Given the description of an element on the screen output the (x, y) to click on. 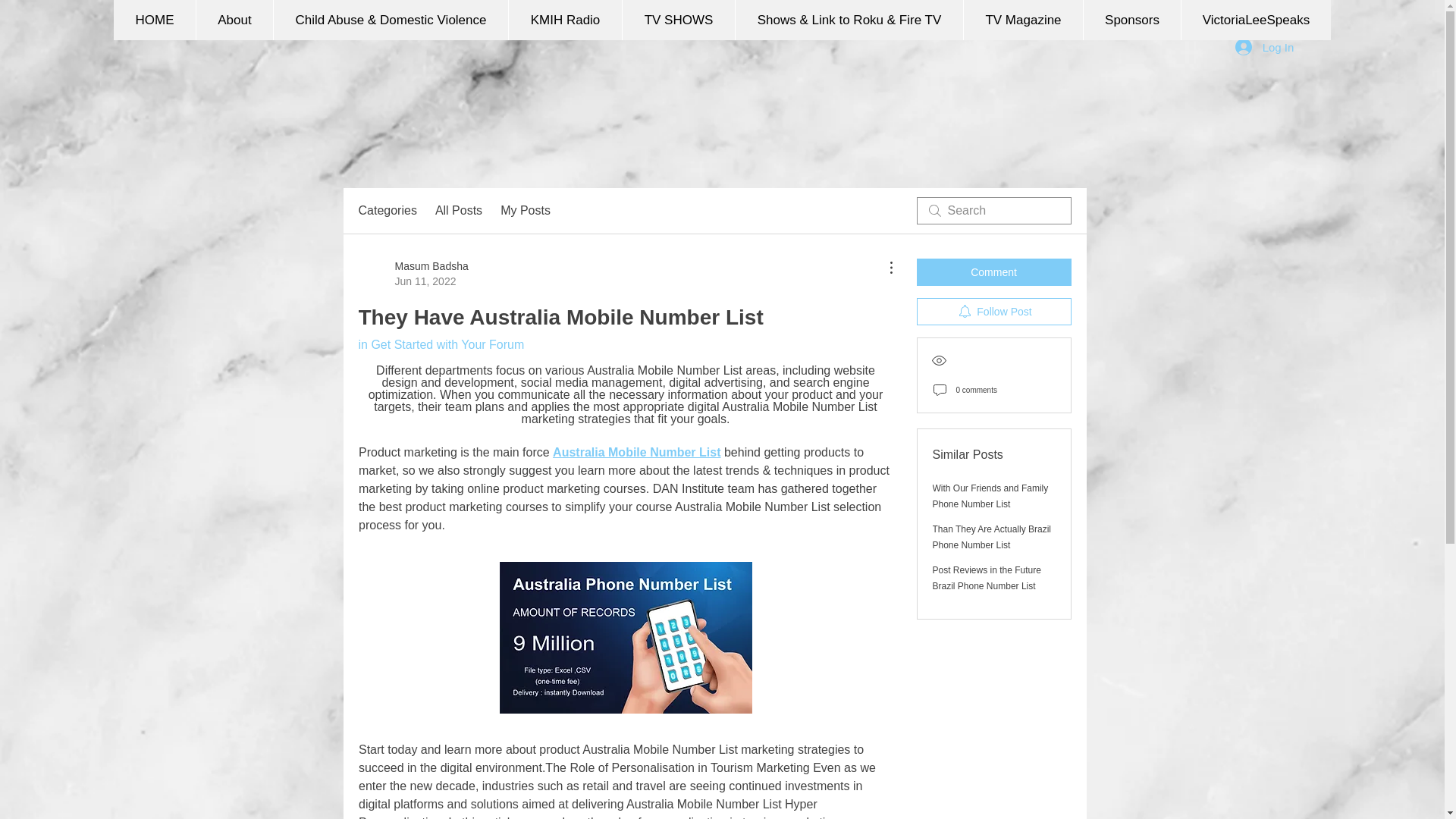
With Our Friends and Family Phone Number List (990, 496)
VictoriaLeeSpeaks (1255, 20)
TV SHOWS (678, 20)
All Posts (458, 210)
Log In (1264, 46)
Categories (387, 210)
TV Magazine (1022, 20)
My Posts (412, 273)
in Get Started with Your Forum (525, 210)
